Given the description of an element on the screen output the (x, y) to click on. 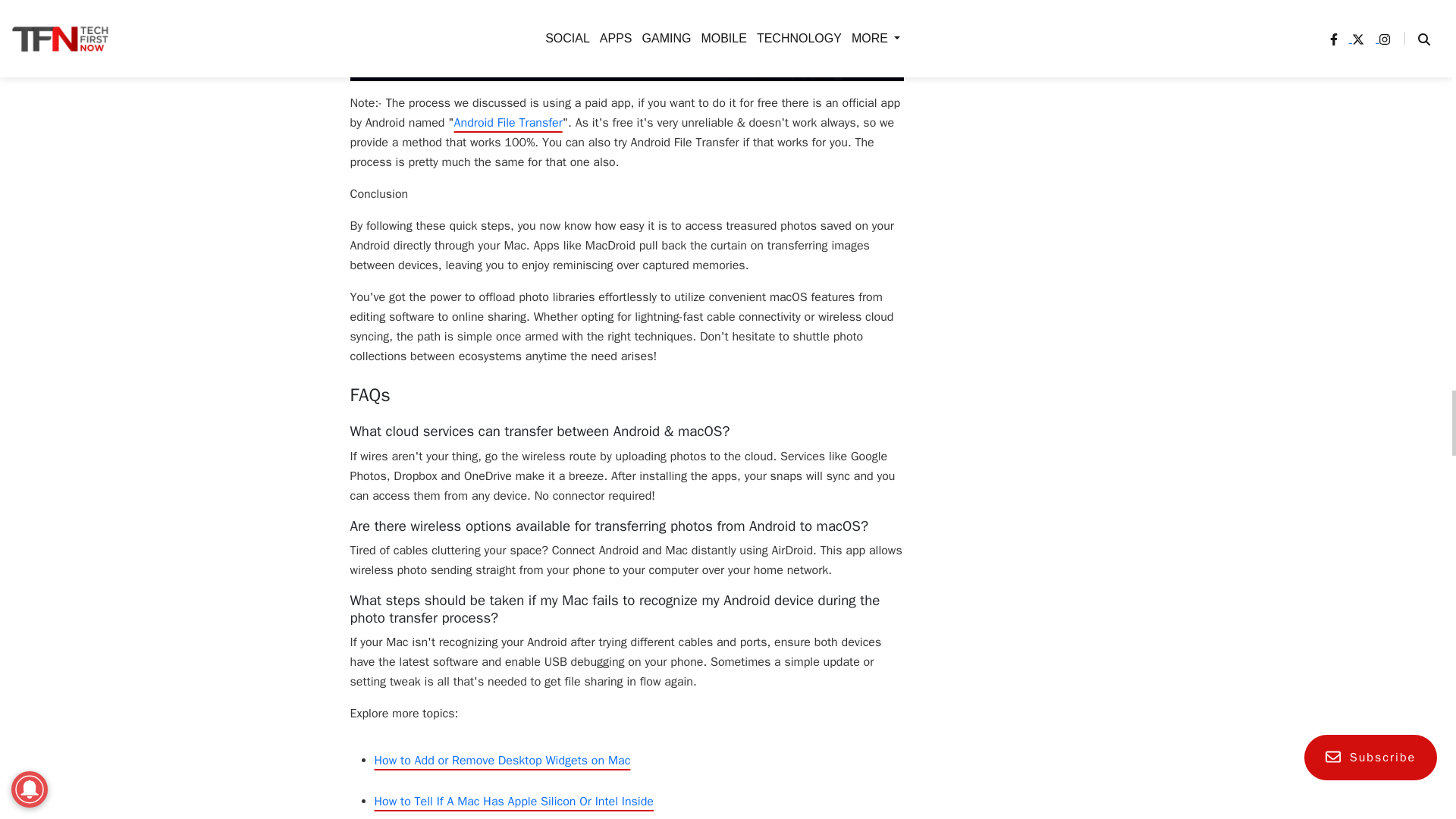
publive-image (627, 40)
Android File Transfer (508, 122)
How to Add or Remove Desktop Widgets on Mac (502, 760)
